Given the description of an element on the screen output the (x, y) to click on. 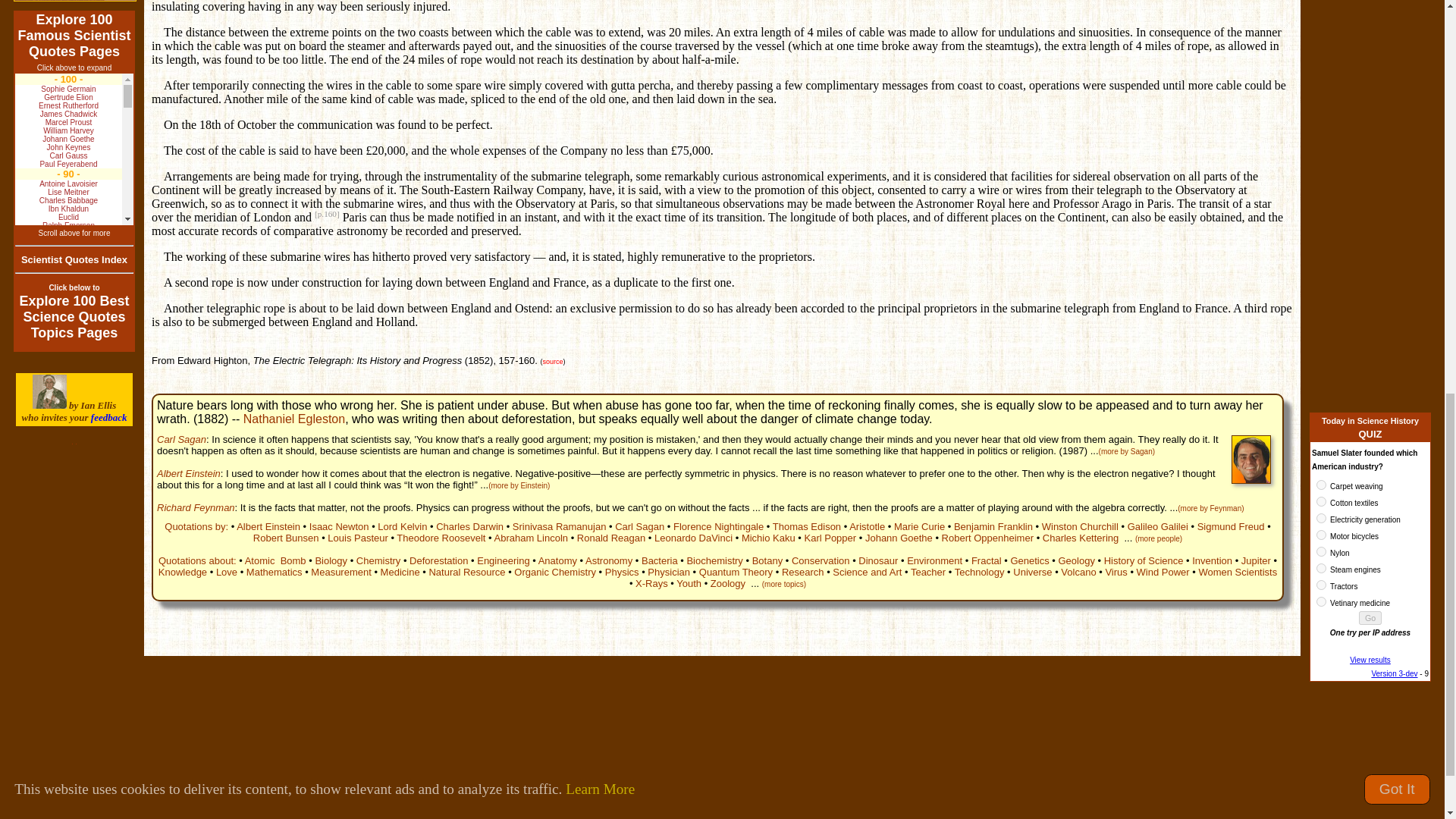
Isaac Newton (338, 526)
Srinivasa Ramanujan (559, 526)
Lord Kelvin (401, 526)
Albert Einstein (267, 526)
source (553, 361)
Nathaniel Egleston (294, 418)
Marie Curie (918, 526)
Richard Feynman (195, 507)
Benjamin Franklin (992, 526)
Aristotle (866, 526)
Carl Sagan (181, 439)
Carl Sagan (638, 526)
Florence Nightingale (717, 526)
Thomas Edison (807, 526)
Quotations by: (196, 526)
